Given the description of an element on the screen output the (x, y) to click on. 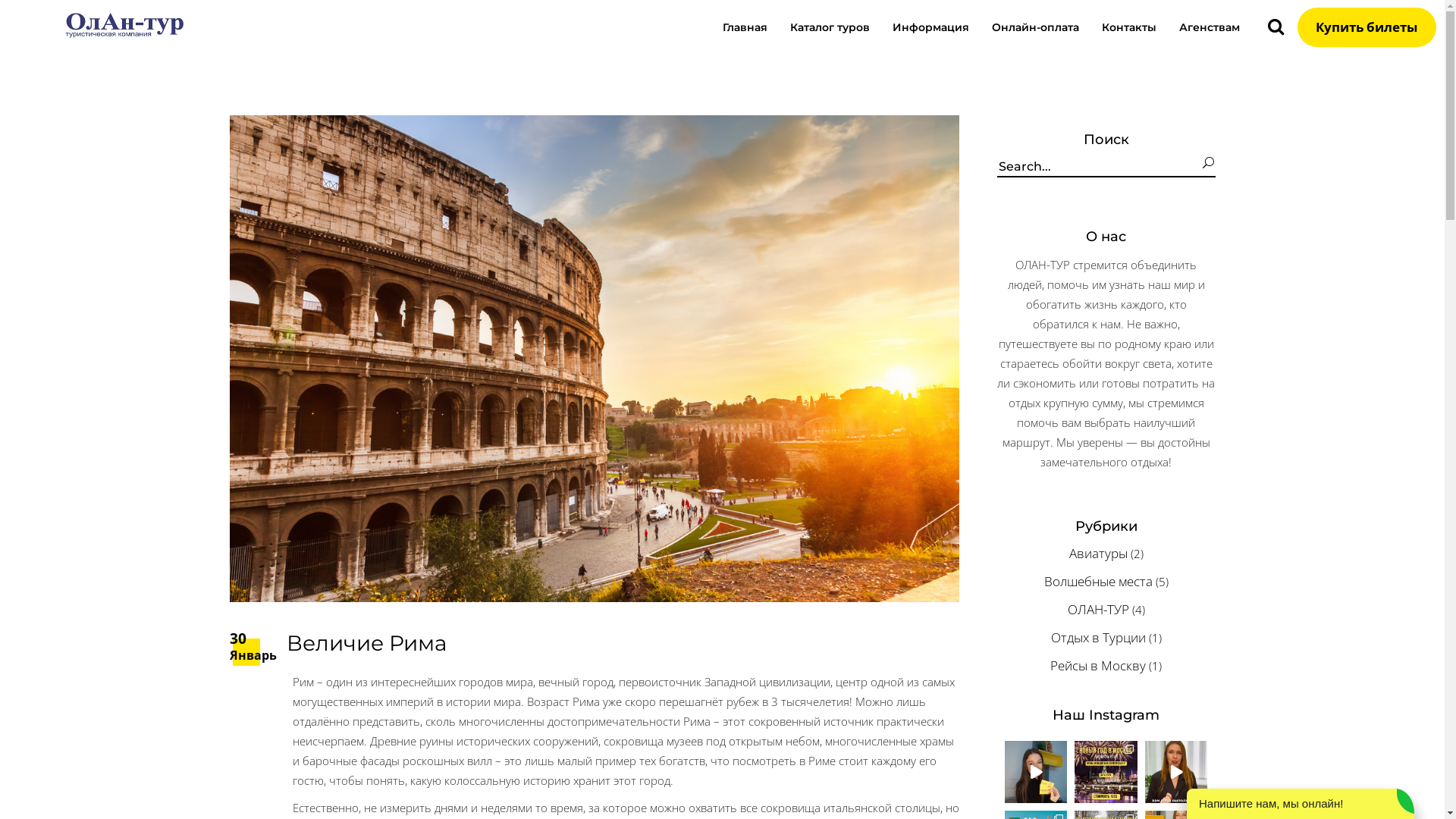
Search for: Element type: hover (1099, 166)
